Given the description of an element on the screen output the (x, y) to click on. 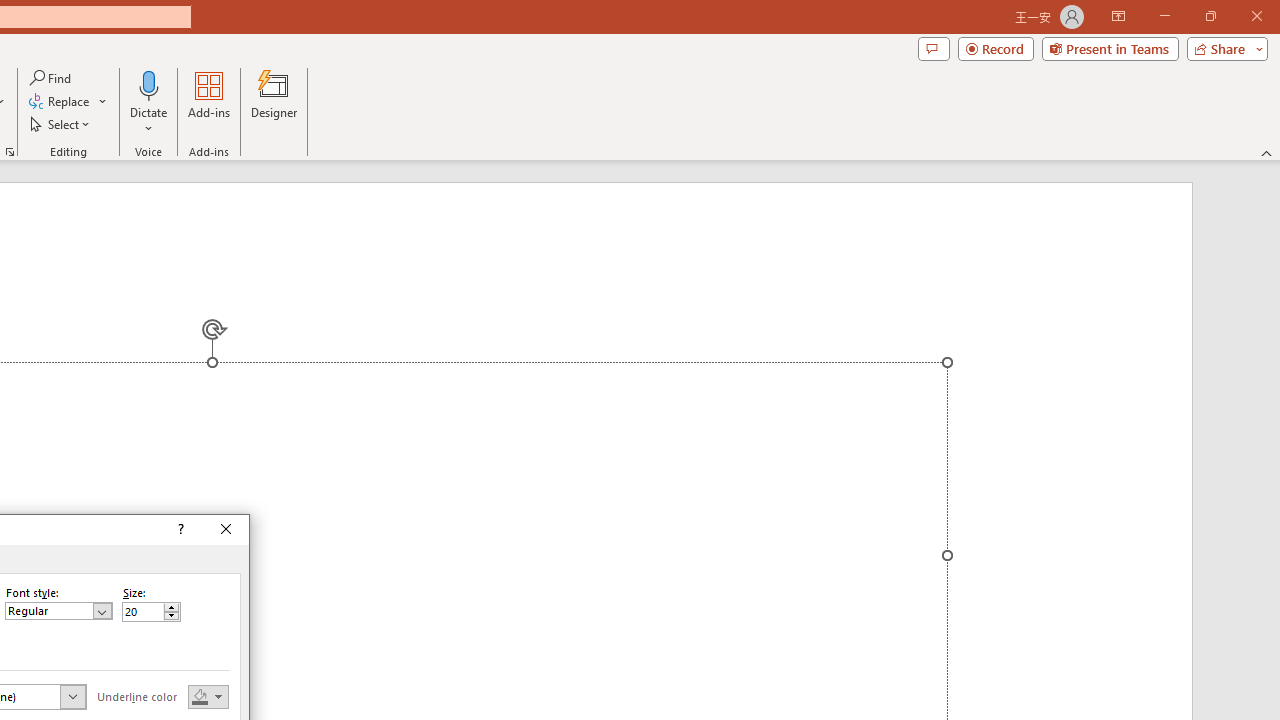
Size (142, 611)
Font style (58, 610)
Size (150, 611)
